Given the description of an element on the screen output the (x, y) to click on. 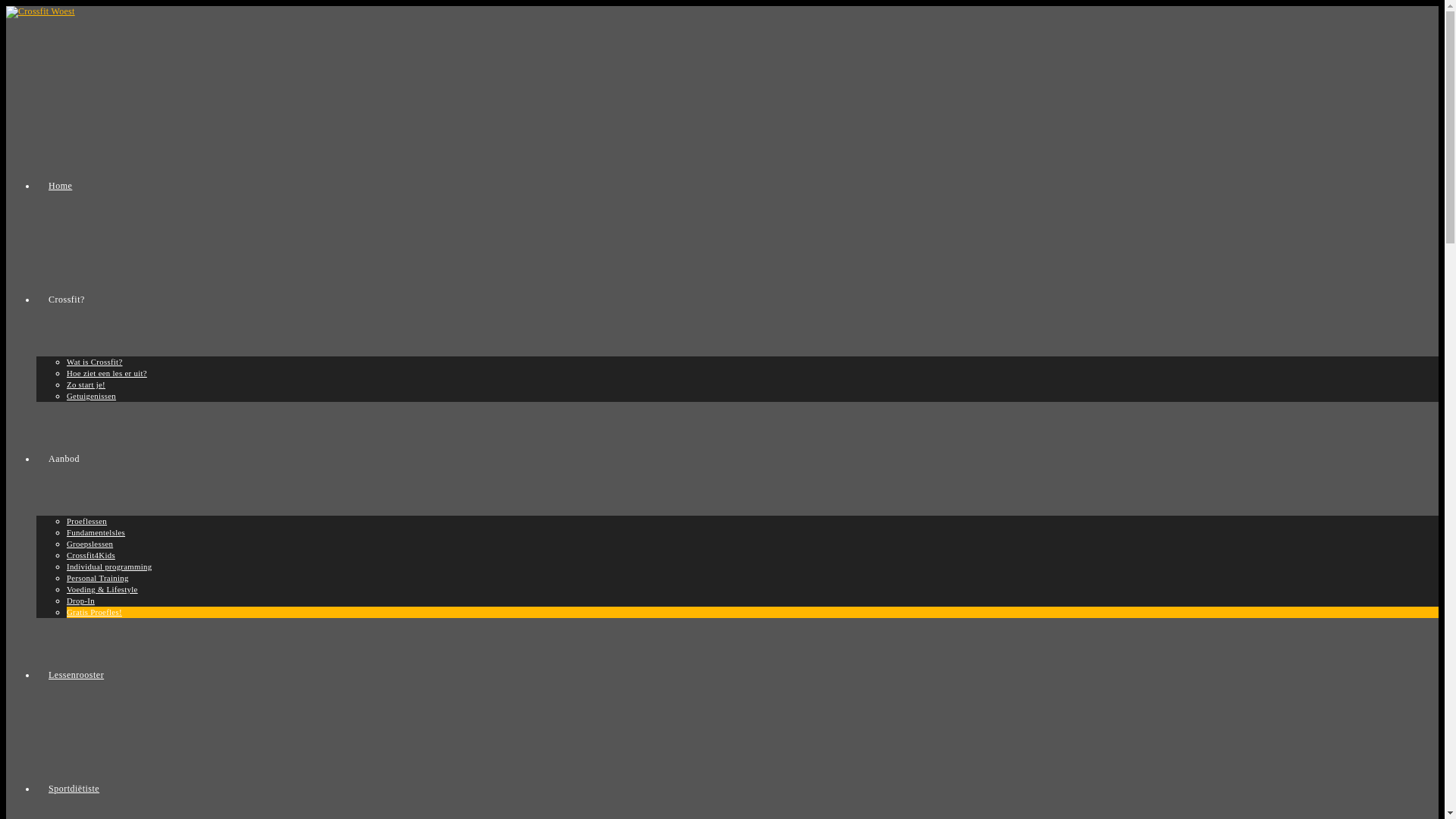
Groepslessen Element type: text (89, 543)
Zo start je! Element type: text (85, 384)
Voeding & Lifestyle Element type: text (102, 588)
Proeflessen Element type: text (86, 520)
Hoe ziet een les er uit? Element type: text (106, 372)
Personal Training Element type: text (97, 577)
Crossfit4Kids Element type: text (90, 554)
Wat is Crossfit? Element type: text (94, 361)
Fundamentelsles Element type: text (95, 531)
Home Element type: text (60, 185)
Gratis Proefles! Element type: text (94, 611)
Drop-In Element type: text (80, 600)
Lessenrooster Element type: text (76, 674)
Crossfit? Element type: text (66, 299)
Aanbod Element type: text (63, 458)
Individual programming Element type: text (108, 566)
Getuigenissen Element type: text (91, 395)
Ga naar inhoud Element type: text (5, 5)
